Given the description of an element on the screen output the (x, y) to click on. 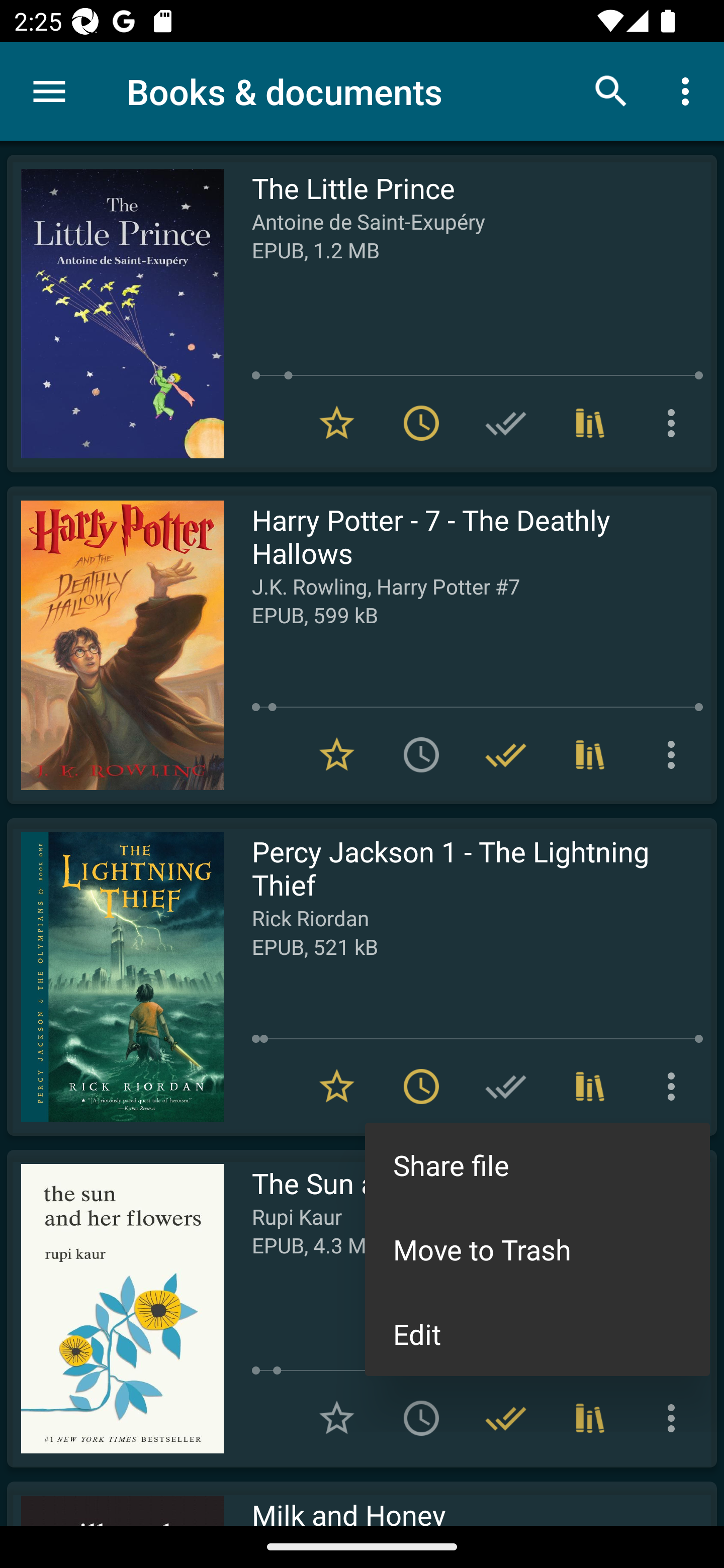
Share file (537, 1164)
Move to Trash (537, 1249)
Edit (537, 1334)
